Given the description of an element on the screen output the (x, y) to click on. 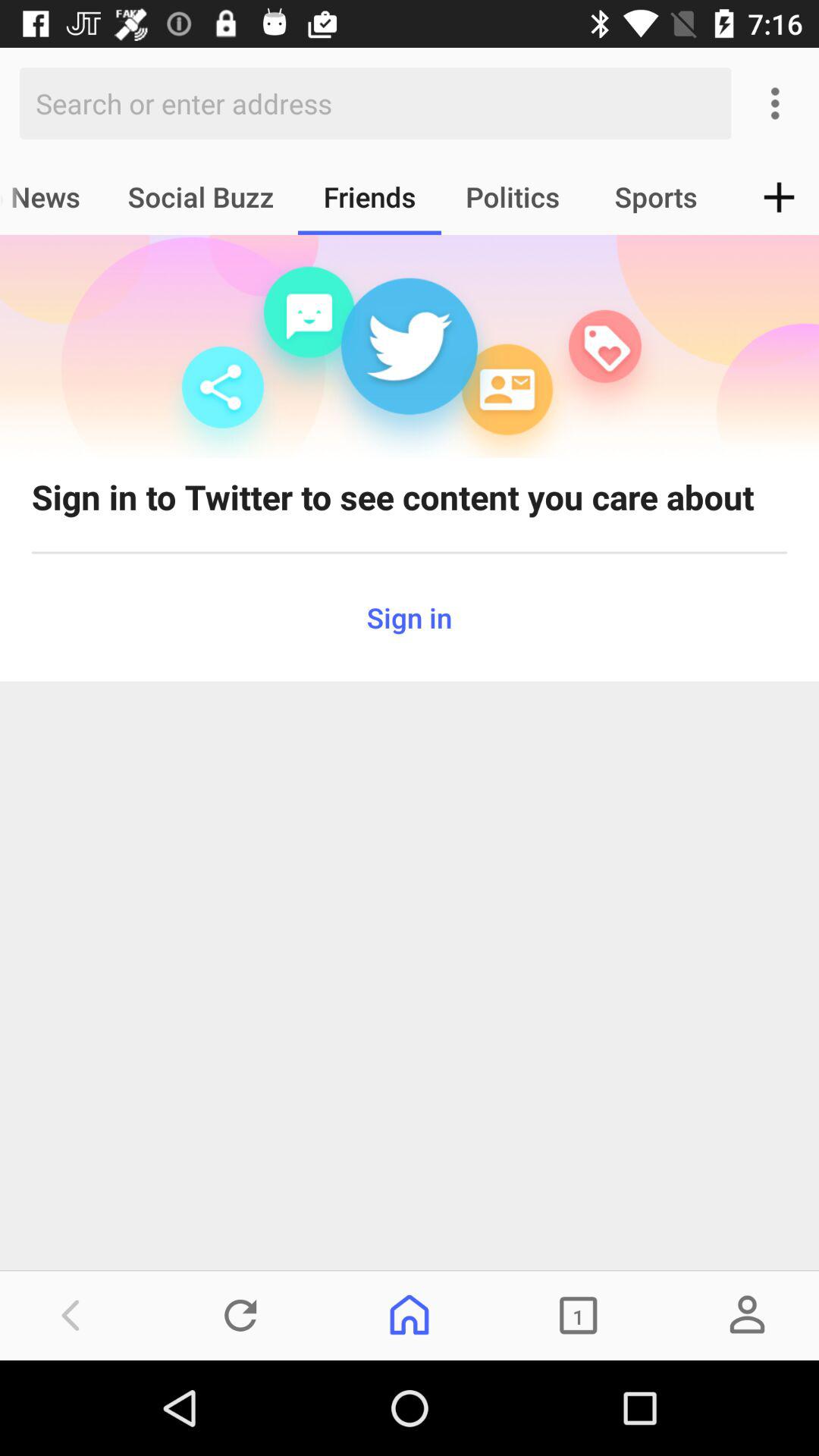
launch the icon to the right of the sports (779, 196)
